Given the description of an element on the screen output the (x, y) to click on. 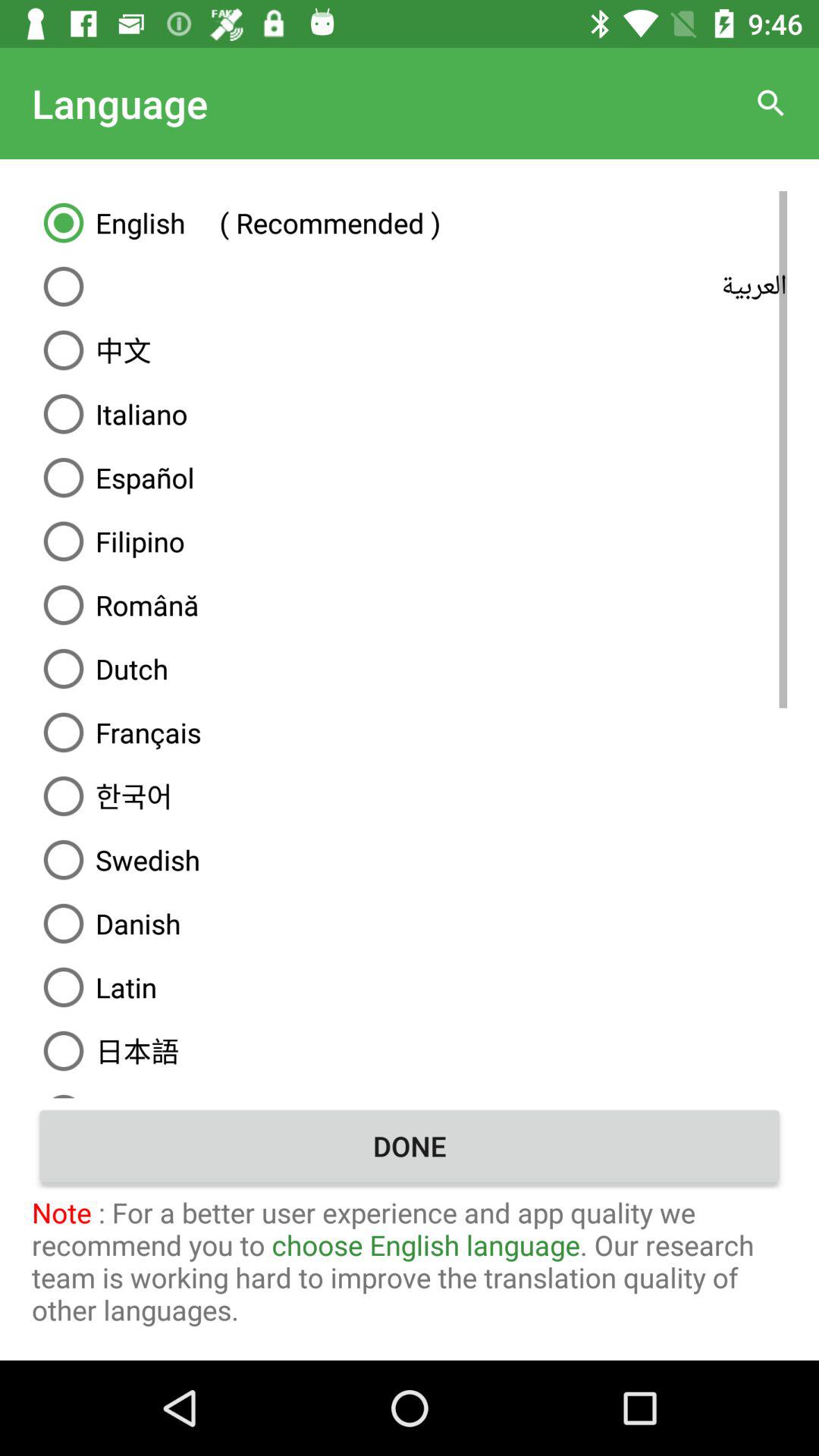
turn off the item below swedish item (409, 923)
